Given the description of an element on the screen output the (x, y) to click on. 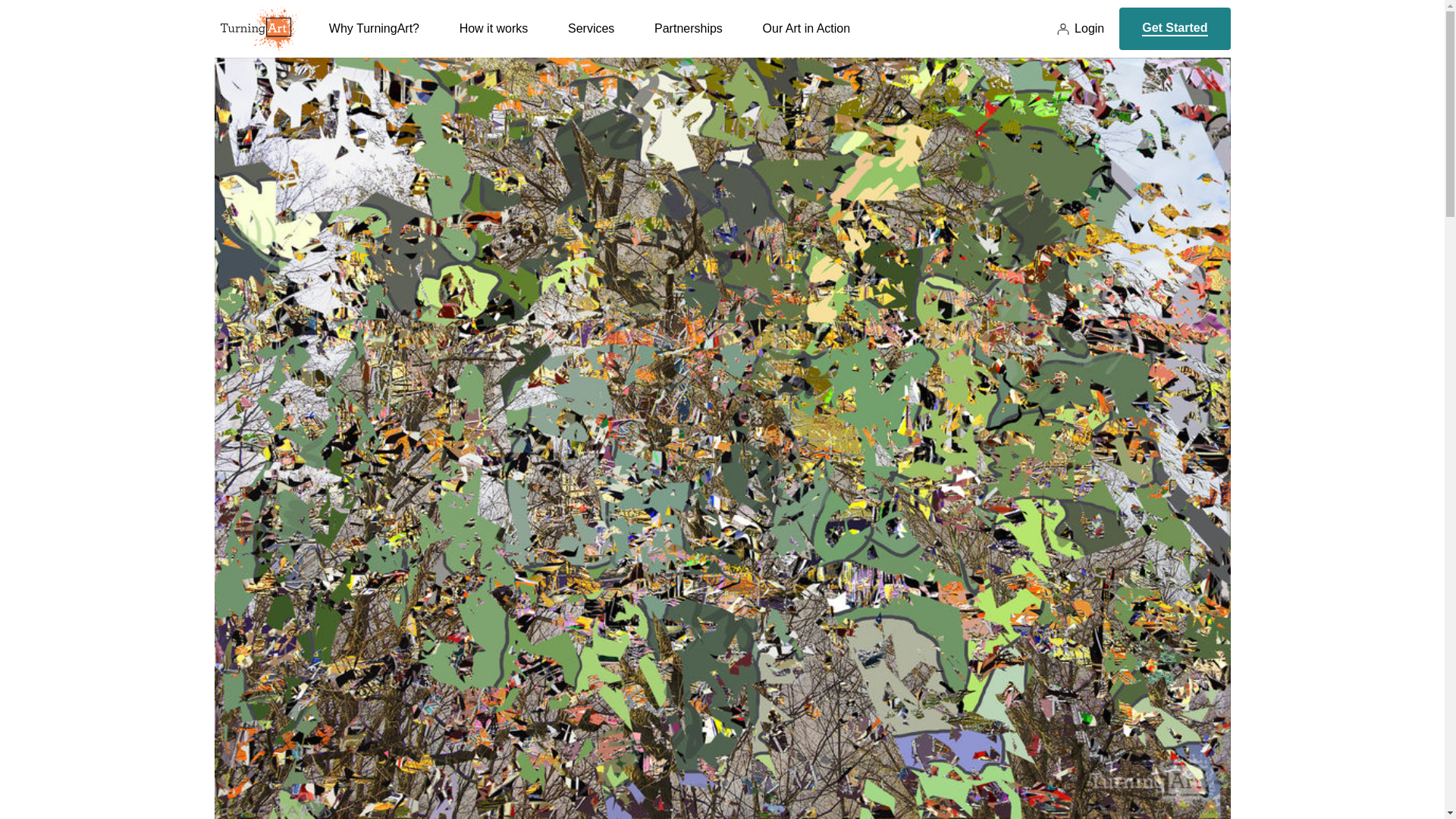
Partnerships (687, 38)
Services (590, 38)
How it works (494, 38)
Get Started (1174, 28)
Why TurningArt? (374, 38)
Our Art in Action (806, 38)
Login (1080, 28)
